Given the description of an element on the screen output the (x, y) to click on. 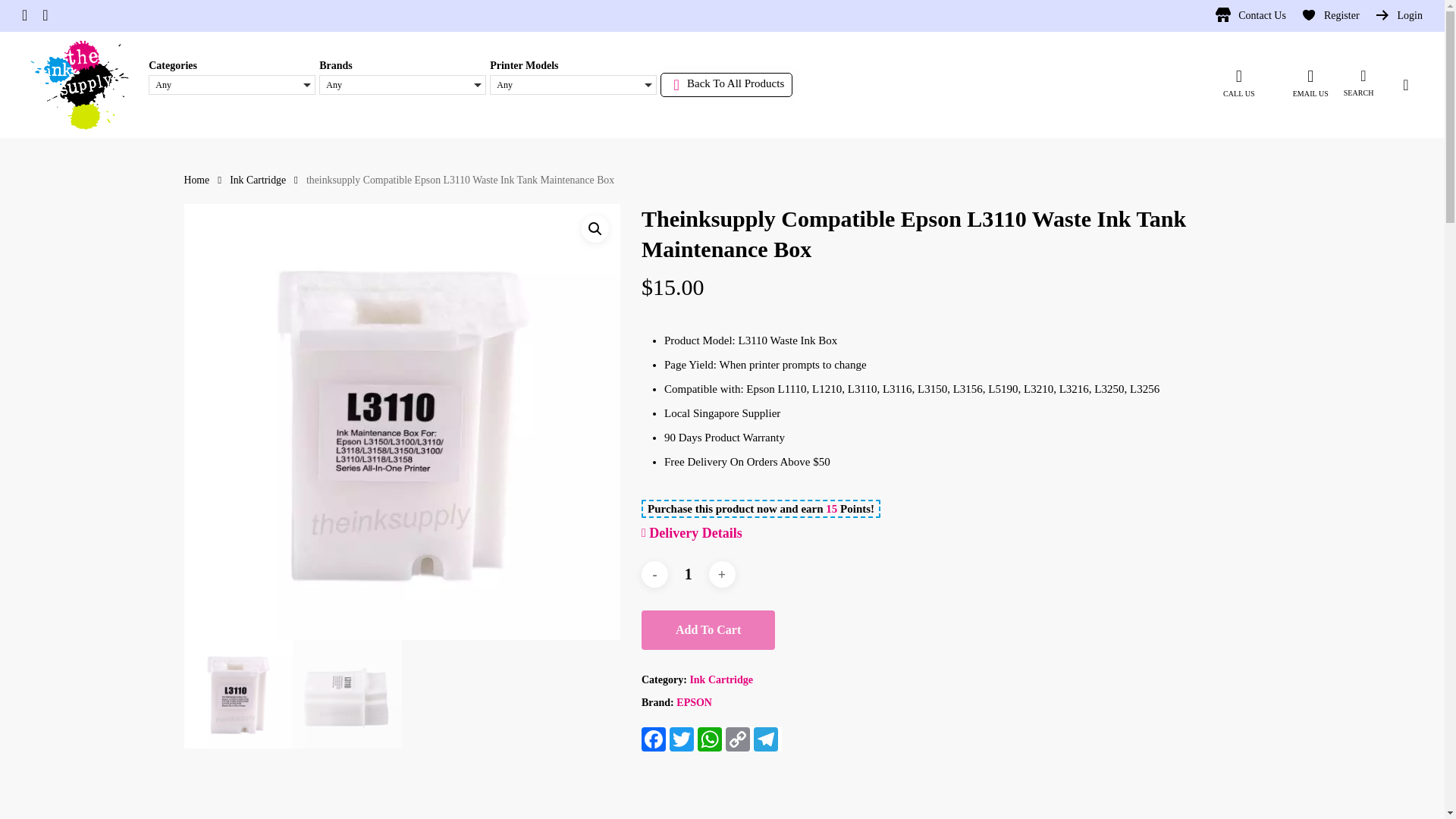
Home (196, 179)
Ink Cartridge (257, 179)
Contact Us (1250, 15)
CALL US (1239, 84)
Add To Cart (708, 630)
Register (1366, 75)
Delivery Details (1330, 15)
Facebook (692, 532)
EMAIL US (655, 739)
Back To All Products (1311, 84)
EPSON (726, 84)
WhatsApp (694, 702)
Login (711, 739)
Twitter (1398, 15)
